Given the description of an element on the screen output the (x, y) to click on. 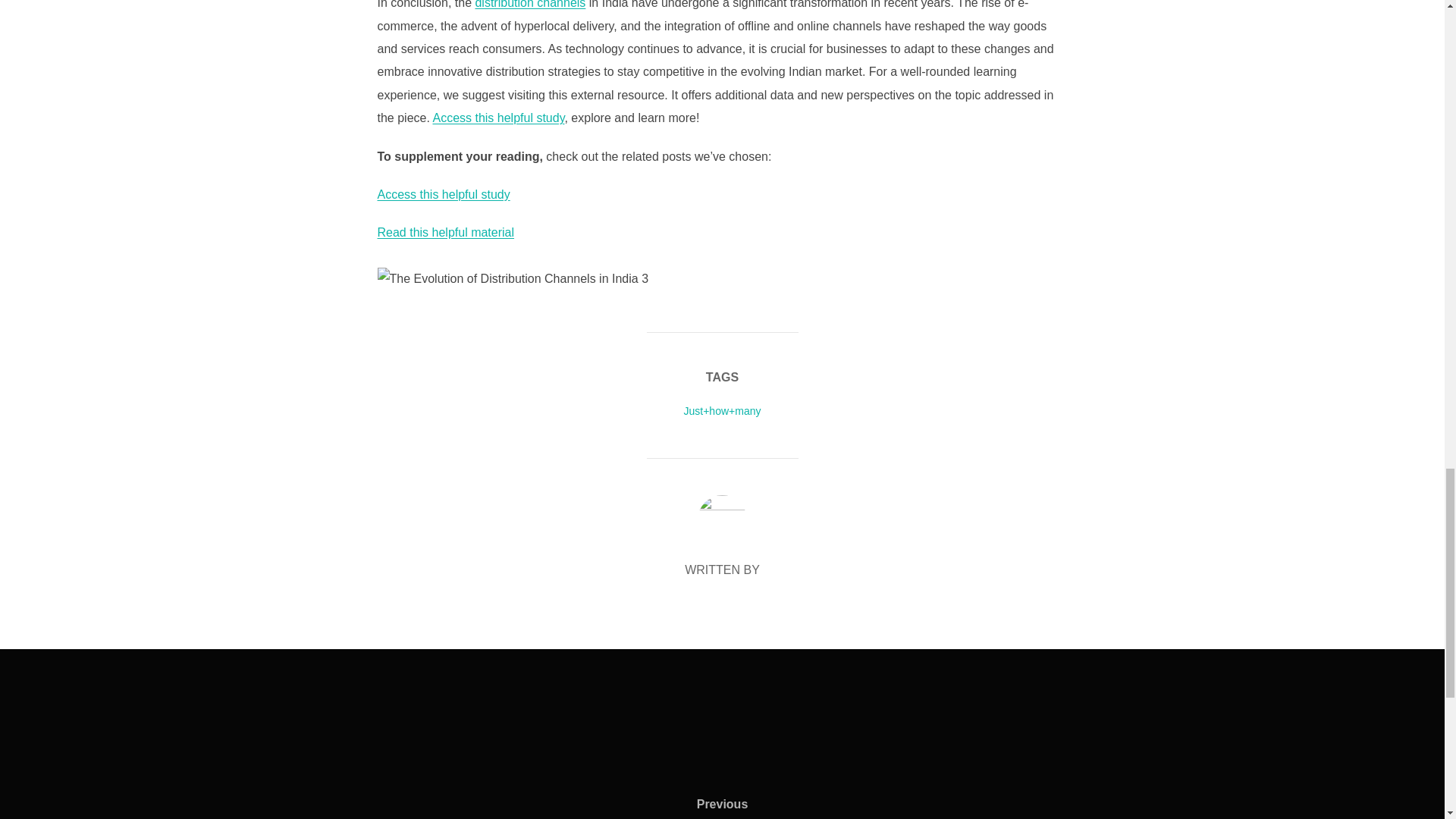
distribution channels (529, 4)
Read this helpful material (446, 232)
Access this helpful study (444, 194)
Access this helpful study (498, 117)
